Given the description of an element on the screen output the (x, y) to click on. 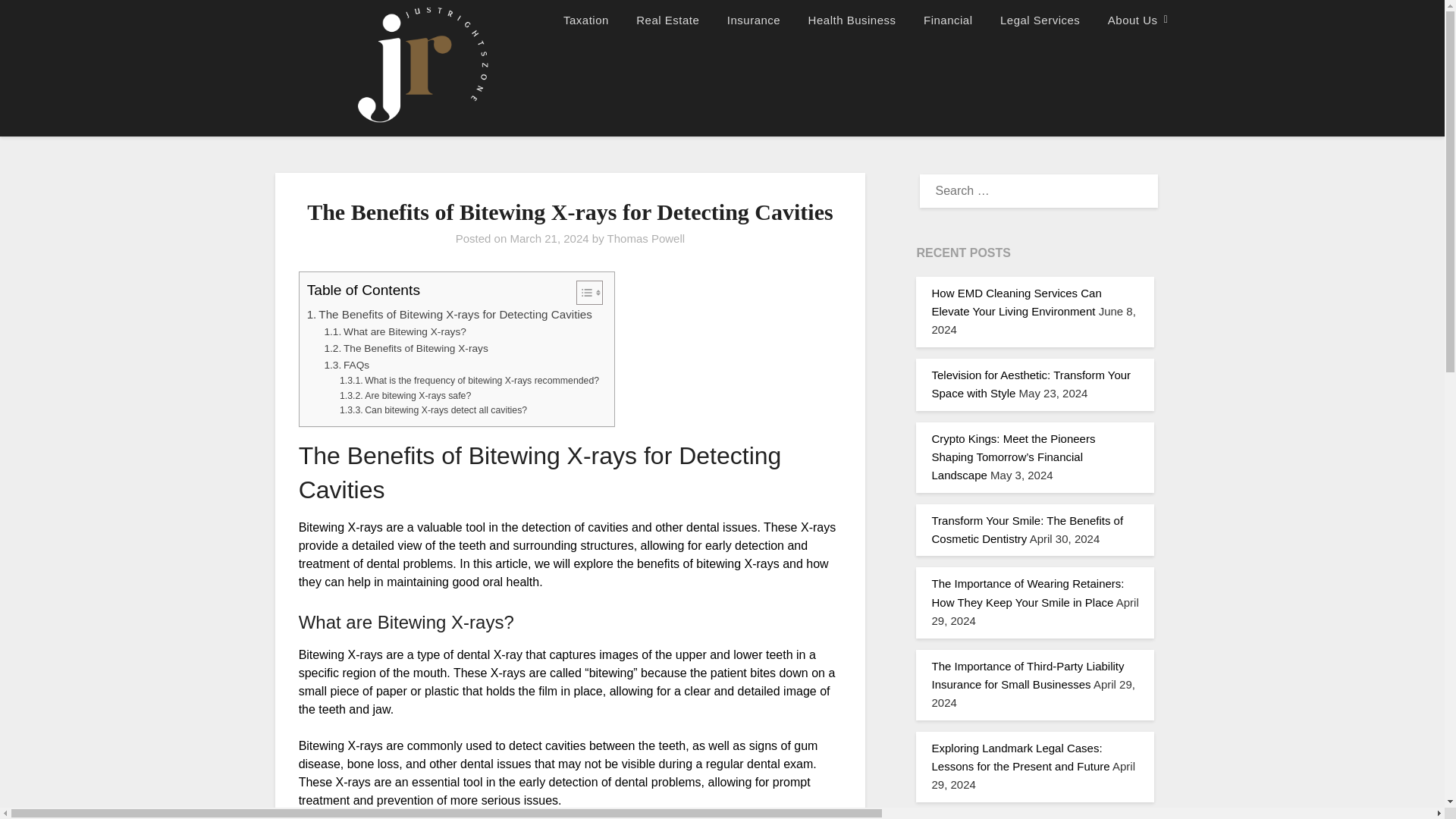
The Benefits of Bitewing X-rays for Detecting Cavities (449, 314)
Can bitewing X-rays detect all cavities? (433, 410)
About Us (1133, 20)
What are Bitewing X-rays? (394, 331)
just rightszone (599, 19)
FAQs (346, 365)
The Benefits of Bitewing X-rays for Detecting Cavities (449, 314)
What is the frequency of bitewing X-rays recommended? (468, 381)
Health Business (852, 20)
Legal Services (1040, 20)
Can bitewing X-rays detect all cavities? (433, 410)
Taxation (586, 20)
Thomas Powell (646, 237)
Financial (948, 20)
What are Bitewing X-rays? (394, 331)
